Given the description of an element on the screen output the (x, y) to click on. 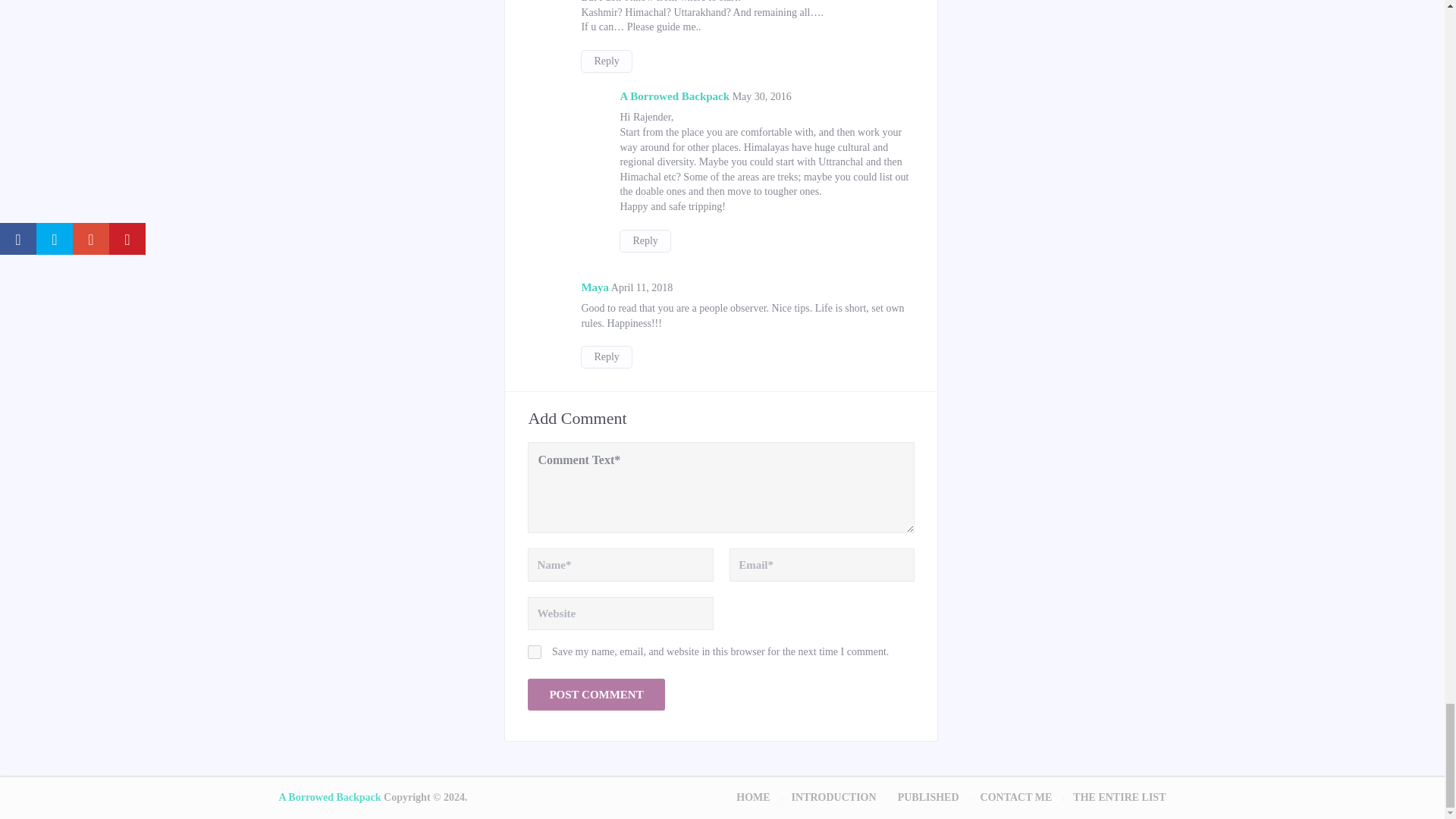
yes (534, 652)
Post Comment (595, 694)
